Given the description of an element on the screen output the (x, y) to click on. 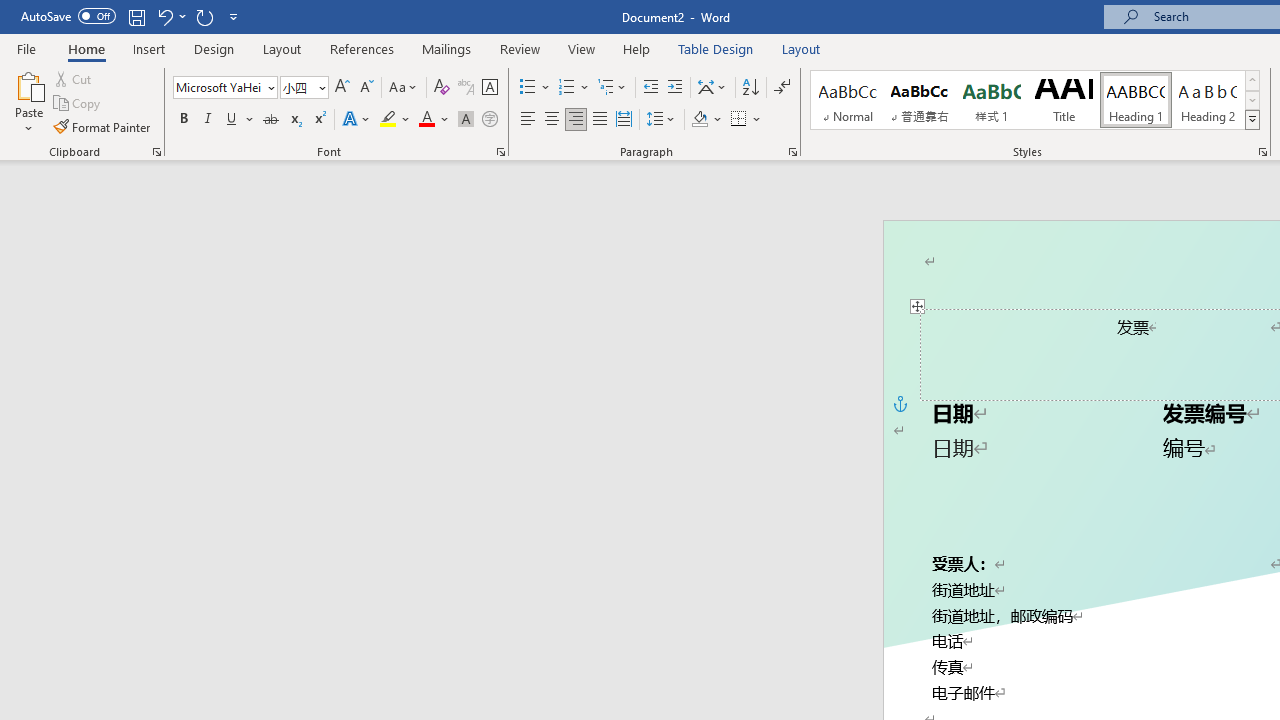
Enclose Characters... (489, 119)
Italic (207, 119)
Row up (1252, 79)
Heading 1 (1135, 100)
Align Left (527, 119)
Heading 2 (1208, 100)
